Given the description of an element on the screen output the (x, y) to click on. 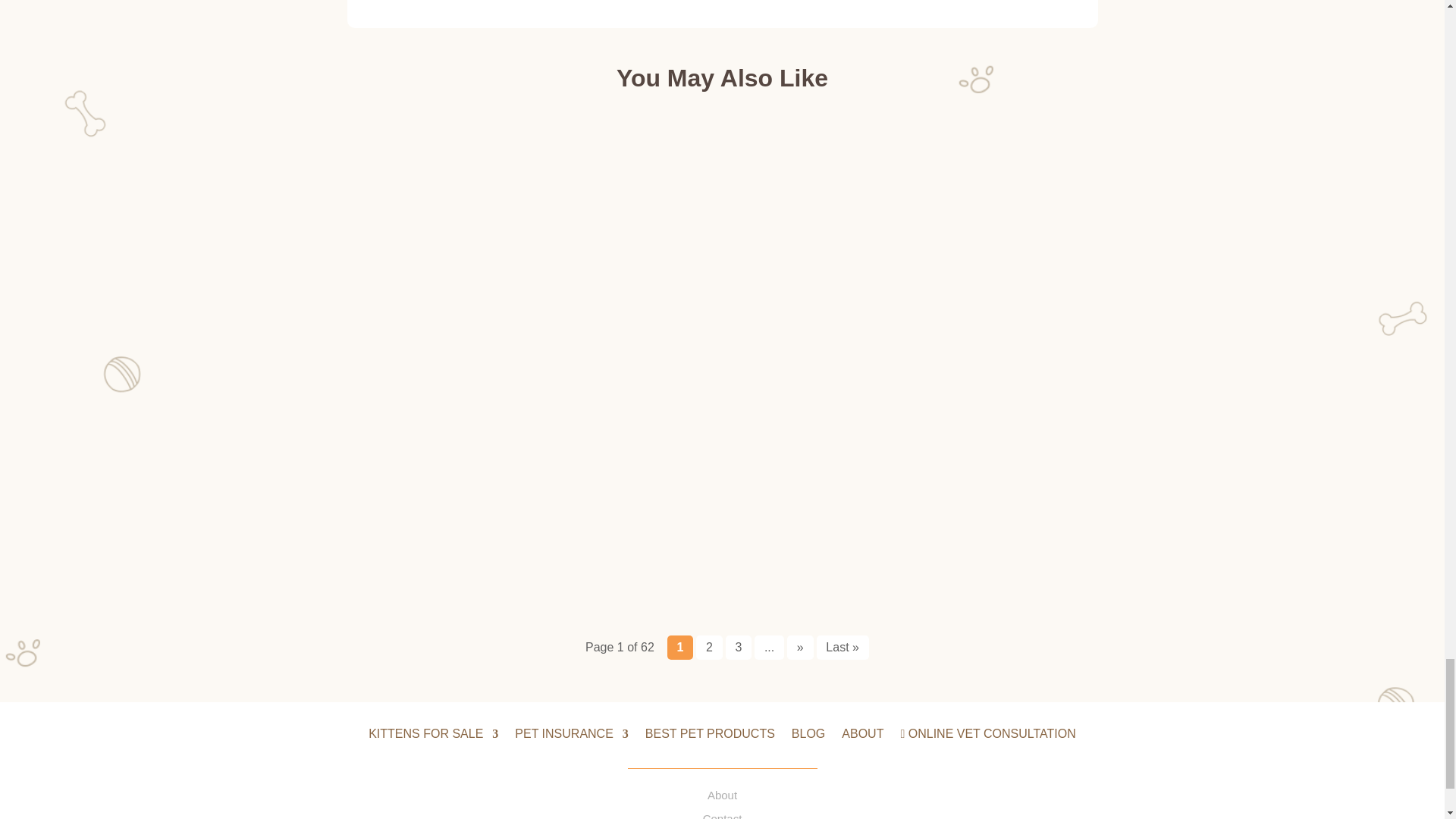
Page 3 (738, 647)
Page 2 (708, 647)
Contact (722, 815)
About (721, 794)
